Given the description of an element on the screen output the (x, y) to click on. 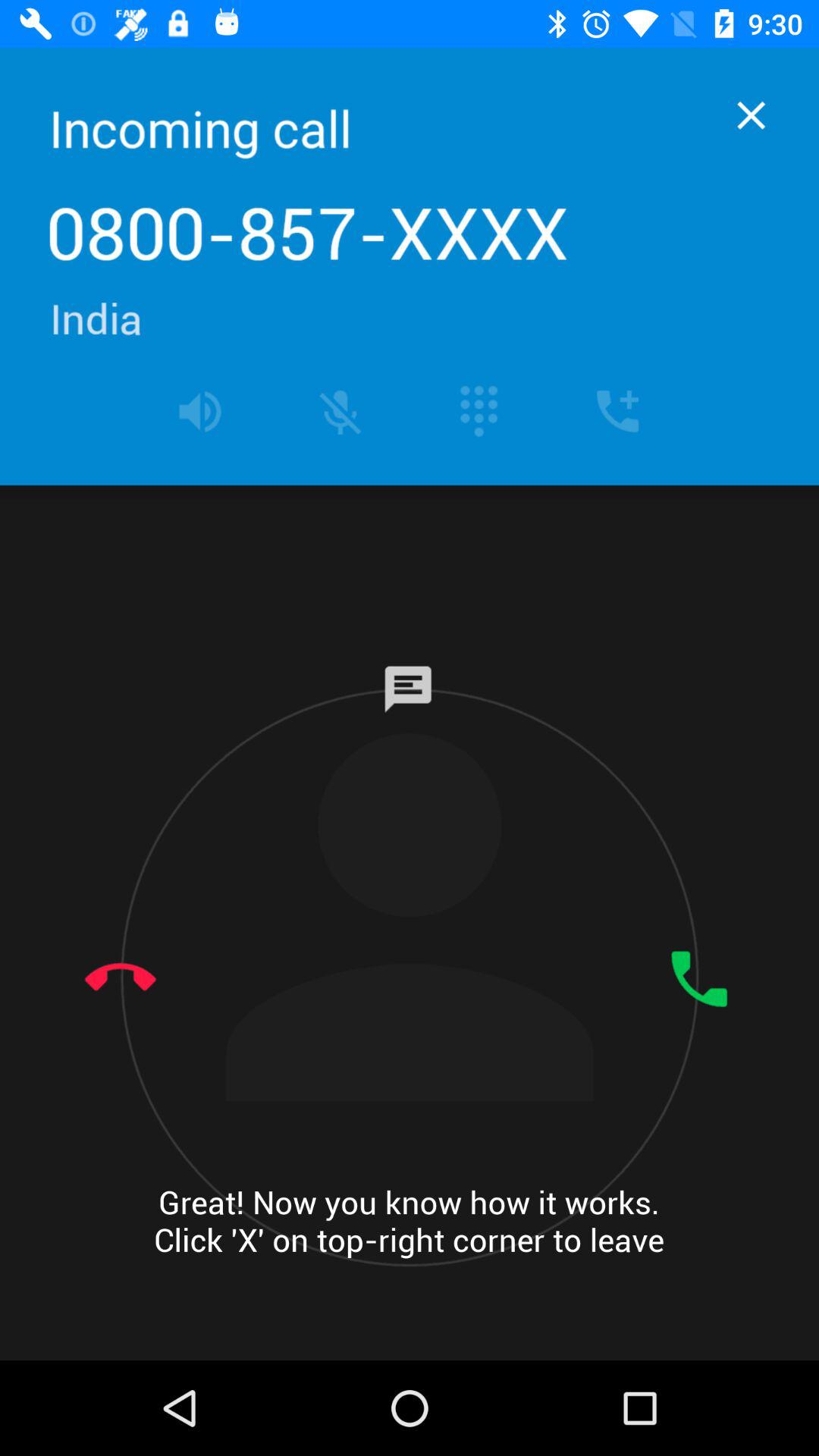
click to exit (751, 115)
